Given the description of an element on the screen output the (x, y) to click on. 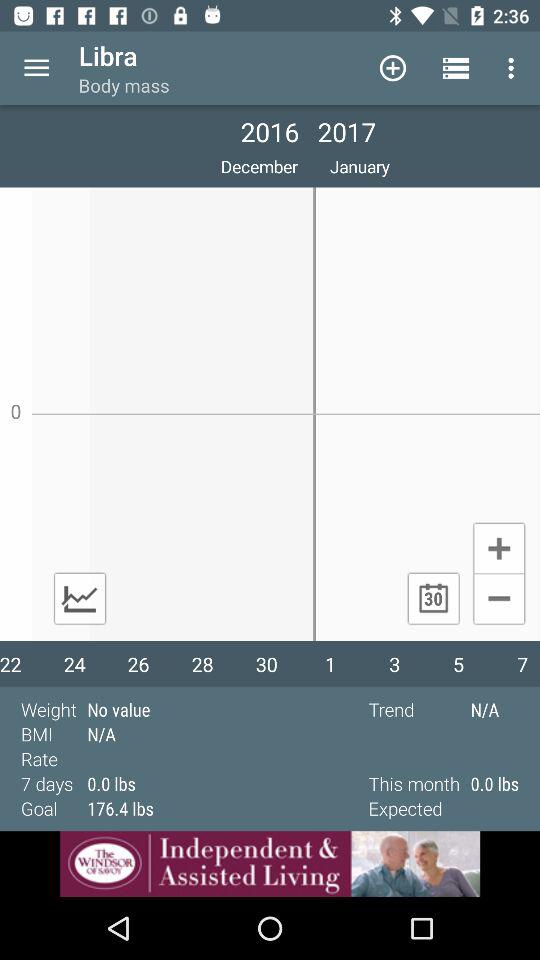
add option (498, 547)
